Given the description of an element on the screen output the (x, y) to click on. 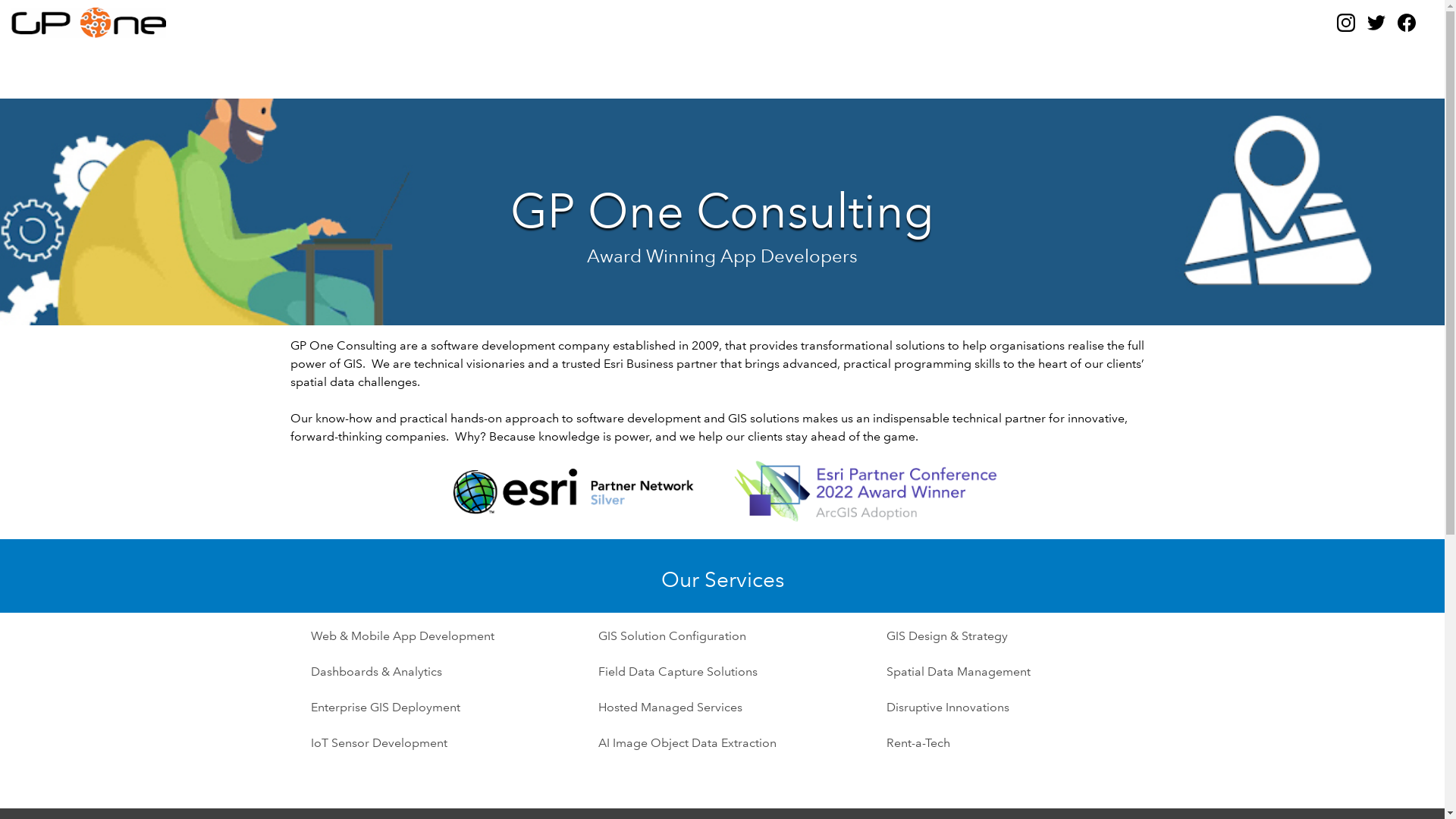
GP One Consulting Element type: text (260, 22)
